Given the description of an element on the screen output the (x, y) to click on. 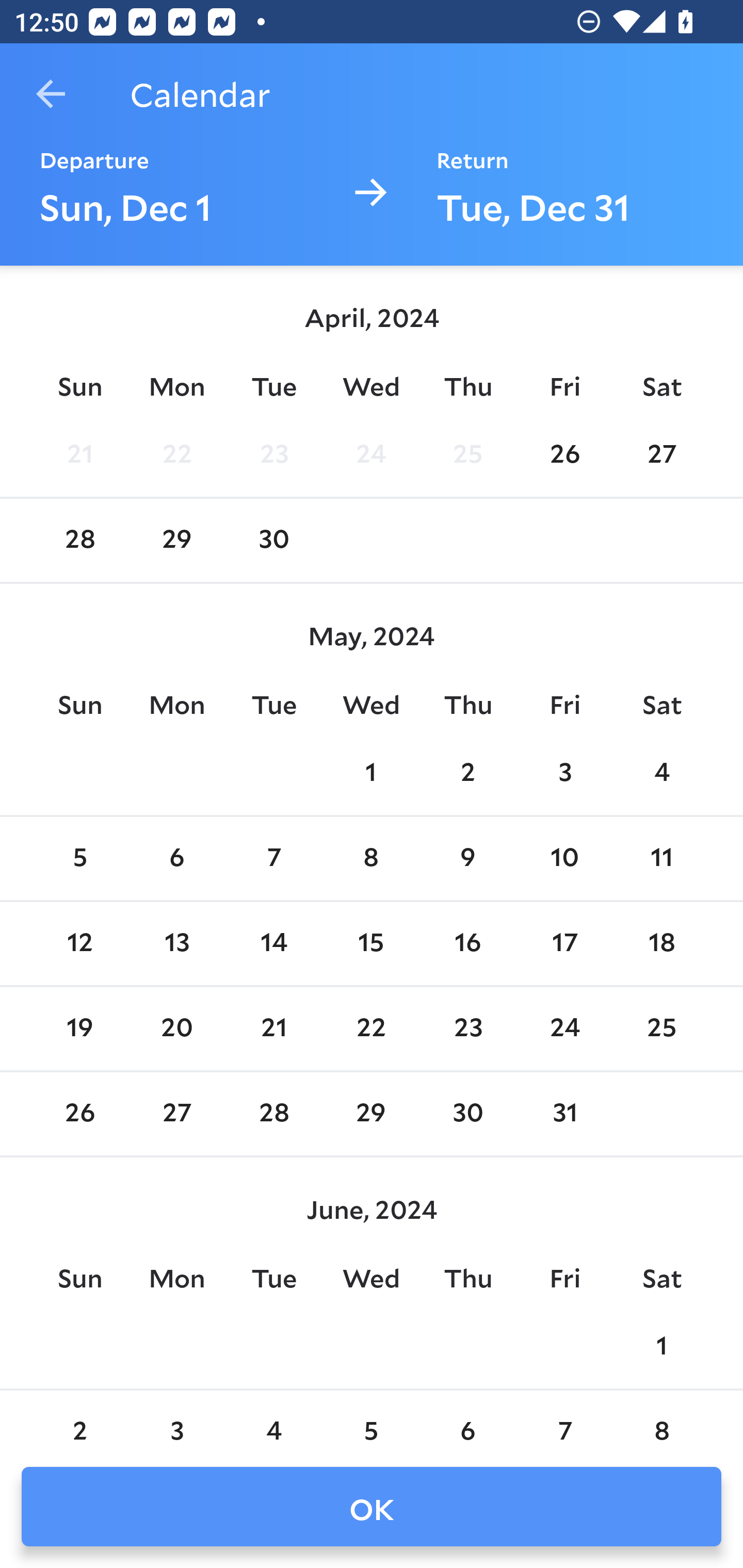
Navigate up (50, 93)
21 (79, 454)
22 (177, 454)
23 (273, 454)
24 (371, 454)
25 (467, 454)
26 (565, 454)
27 (661, 454)
28 (79, 540)
29 (177, 540)
30 (273, 540)
1 (371, 772)
2 (467, 772)
3 (565, 772)
4 (661, 772)
5 (79, 859)
6 (177, 859)
7 (273, 859)
8 (371, 859)
9 (467, 859)
10 (565, 859)
11 (661, 859)
12 (79, 943)
13 (177, 943)
14 (273, 943)
15 (371, 943)
16 (467, 943)
17 (565, 943)
18 (661, 943)
19 (79, 1028)
20 (177, 1028)
21 (273, 1028)
22 (371, 1028)
23 (467, 1028)
24 (565, 1028)
25 (661, 1028)
26 (79, 1114)
27 (177, 1114)
28 (273, 1114)
29 (371, 1114)
30 (467, 1114)
31 (565, 1114)
1 (661, 1346)
2 (79, 1420)
3 (177, 1420)
4 (273, 1420)
5 (371, 1420)
6 (467, 1420)
7 (565, 1420)
8 (661, 1420)
OK (371, 1506)
